Given the description of an element on the screen output the (x, y) to click on. 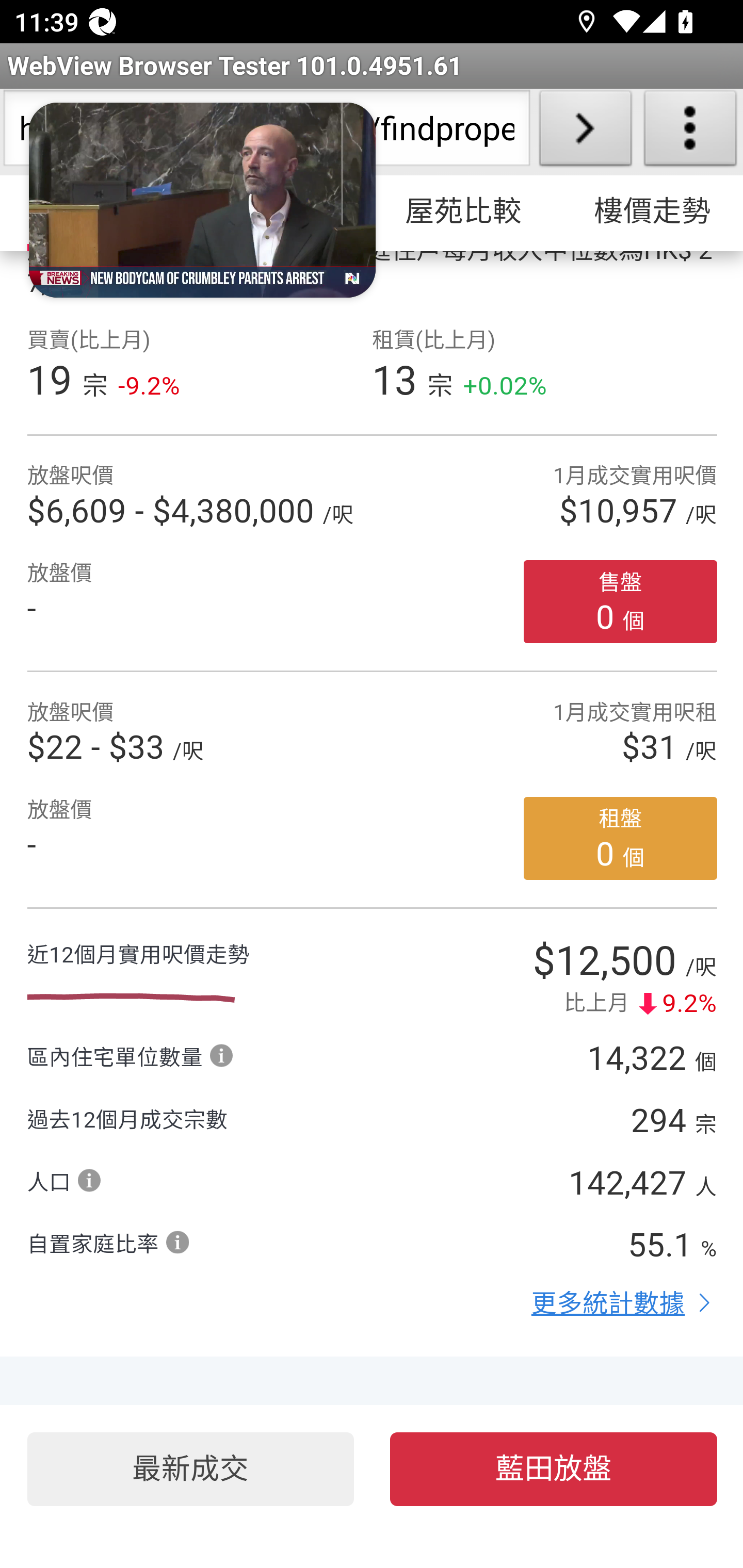
Load URL (585, 132)
About WebView (690, 132)
屋苑比較 (463, 212)
樓價走勢 (649, 212)
售盤 0 個 售盤 0 個 (620, 602)
租盤 0 個 租盤 0 個 (620, 839)
更多統計數據  (624, 1304)
最新成交 (190, 1469)
藍田放盤 (554, 1469)
